Given the description of an element on the screen output the (x, y) to click on. 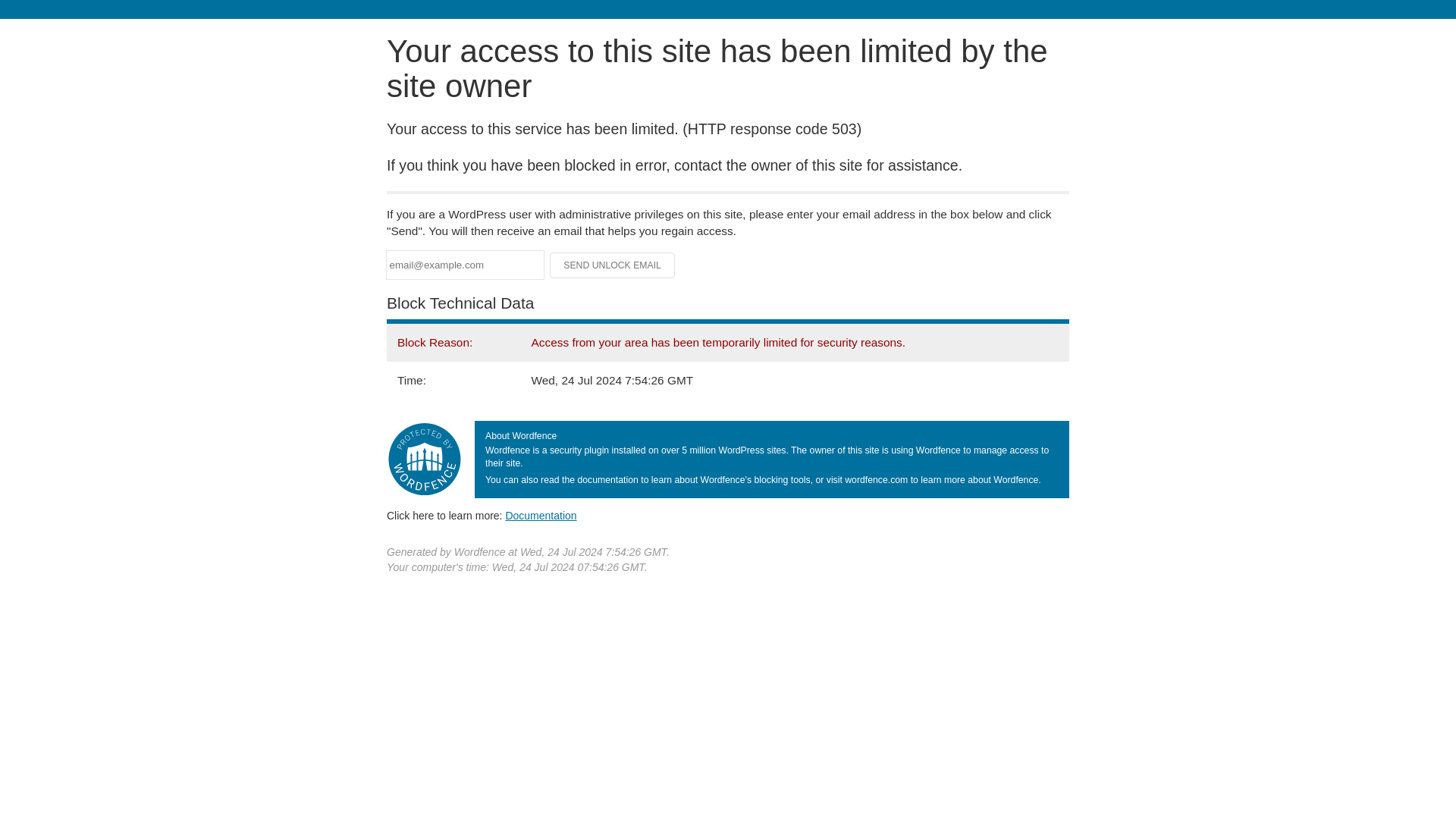
Documentation (540, 515)
Send Unlock Email (612, 265)
Send Unlock Email (612, 265)
